Given the description of an element on the screen output the (x, y) to click on. 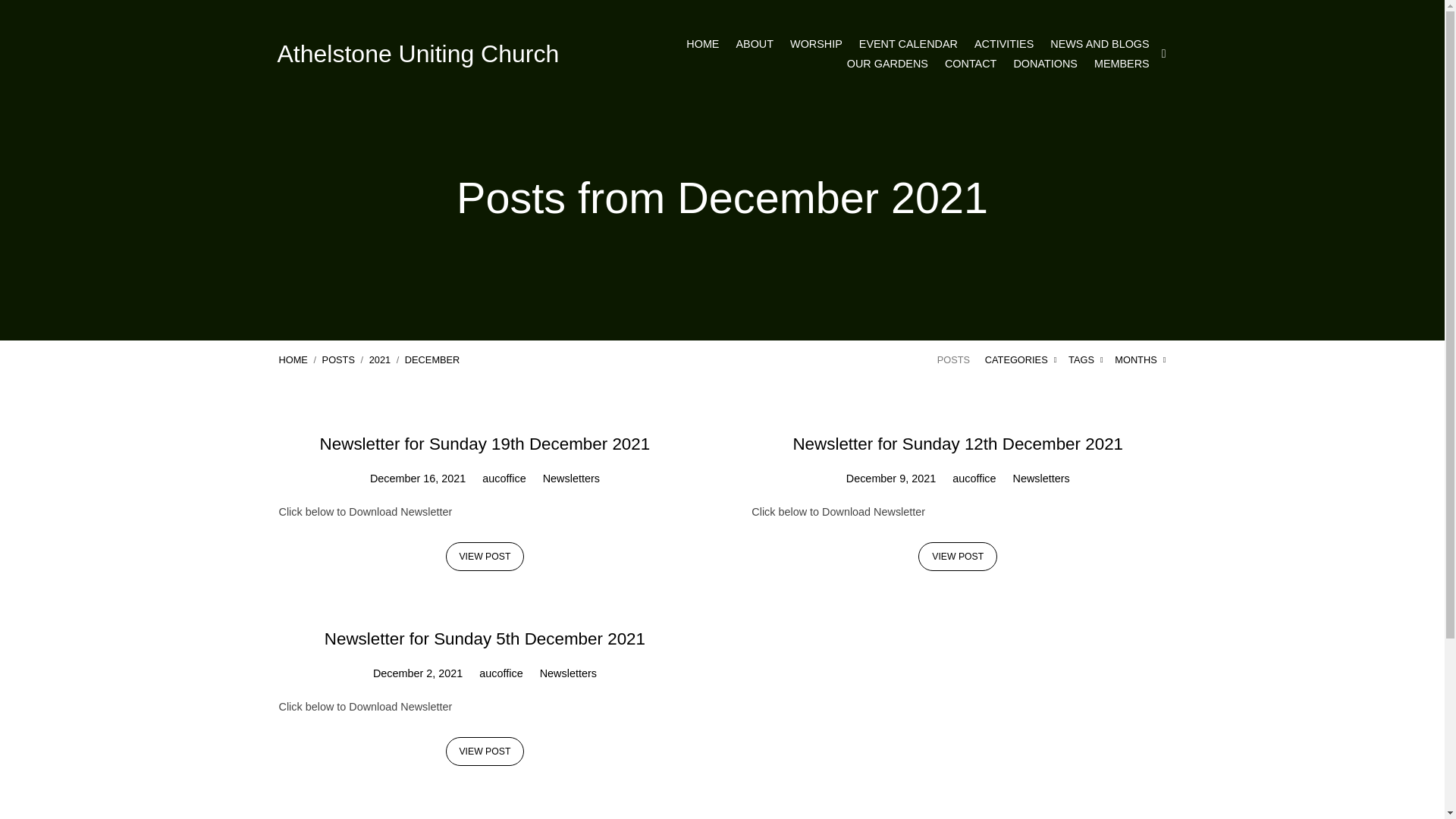
Newsletters Element type: text (1041, 478)
CATEGORIES Element type: text (1021, 359)
DONATIONS Element type: text (1044, 63)
Newsletter for Sunday 5th December 2021 Element type: text (484, 638)
TAGS Element type: text (1085, 359)
ACTIVITIES Element type: text (1003, 43)
POSTS Element type: text (953, 359)
OUR GARDENS Element type: text (887, 63)
MONTHS Element type: text (1139, 359)
CONTACT Element type: text (970, 63)
aucoffice Element type: text (503, 478)
EVENT CALENDAR Element type: text (908, 43)
aucoffice Element type: text (973, 478)
aucoffice Element type: text (500, 673)
Newsletter for Sunday 19th December 2021 Element type: text (485, 443)
DECEMBER Element type: text (432, 359)
Newsletter for Sunday 12th December 2021 Element type: text (957, 443)
VIEW POST Element type: text (484, 751)
Athelstone Uniting Church Element type: text (418, 53)
Open Search Element type: hover (1163, 53)
2021 Element type: text (379, 359)
POSTS Element type: text (338, 359)
MEMBERS Element type: text (1121, 63)
HOME Element type: text (702, 43)
HOME Element type: text (293, 359)
VIEW POST Element type: text (484, 556)
ABOUT Element type: text (754, 43)
Newsletters Element type: text (570, 478)
Newsletters Element type: text (567, 673)
VIEW POST Element type: text (957, 556)
WORSHIP Element type: text (816, 43)
NEWS AND BLOGS Element type: text (1099, 43)
